Given the description of an element on the screen output the (x, y) to click on. 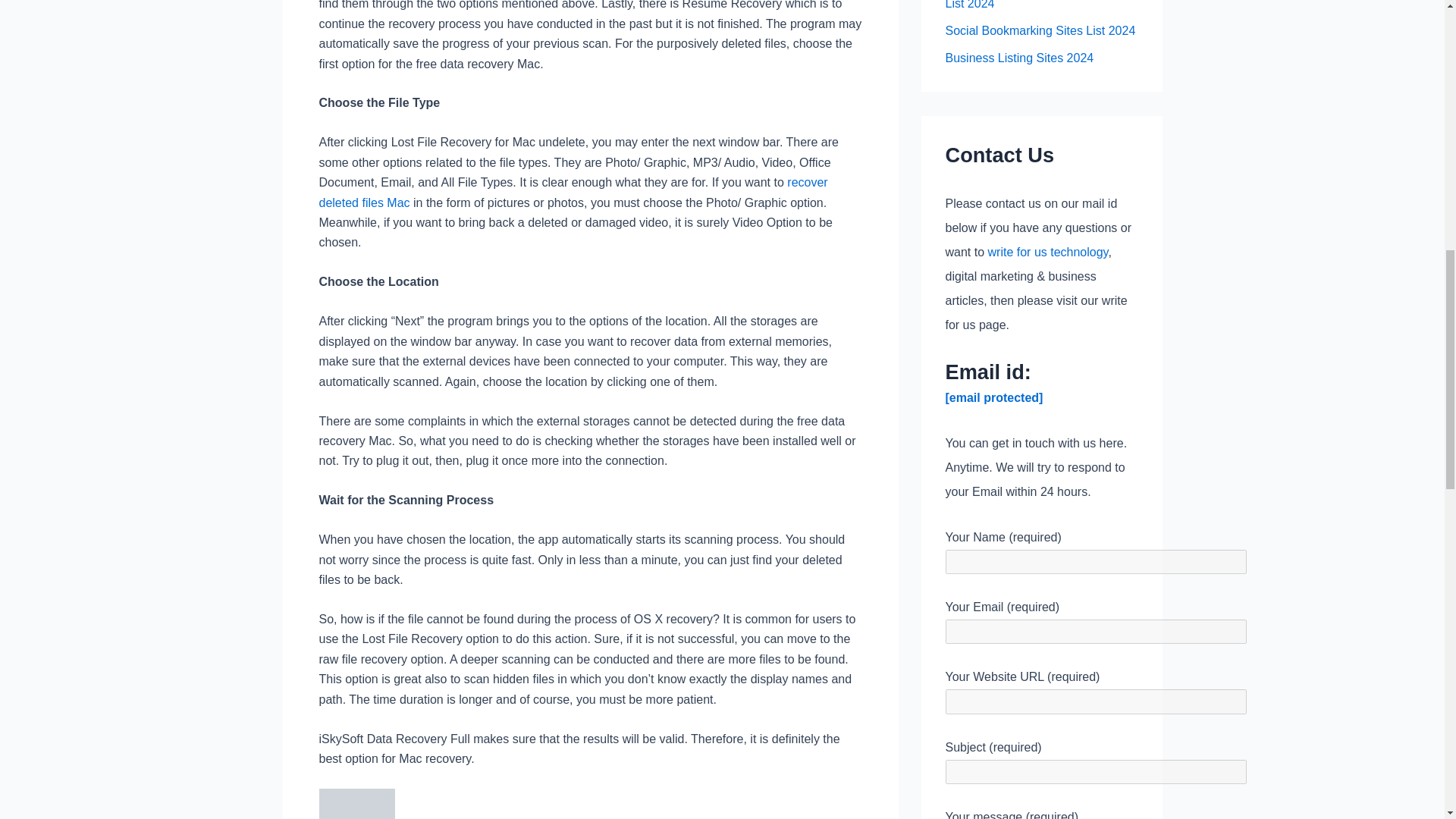
recover deleted files Mac (572, 192)
